Given the description of an element on the screen output the (x, y) to click on. 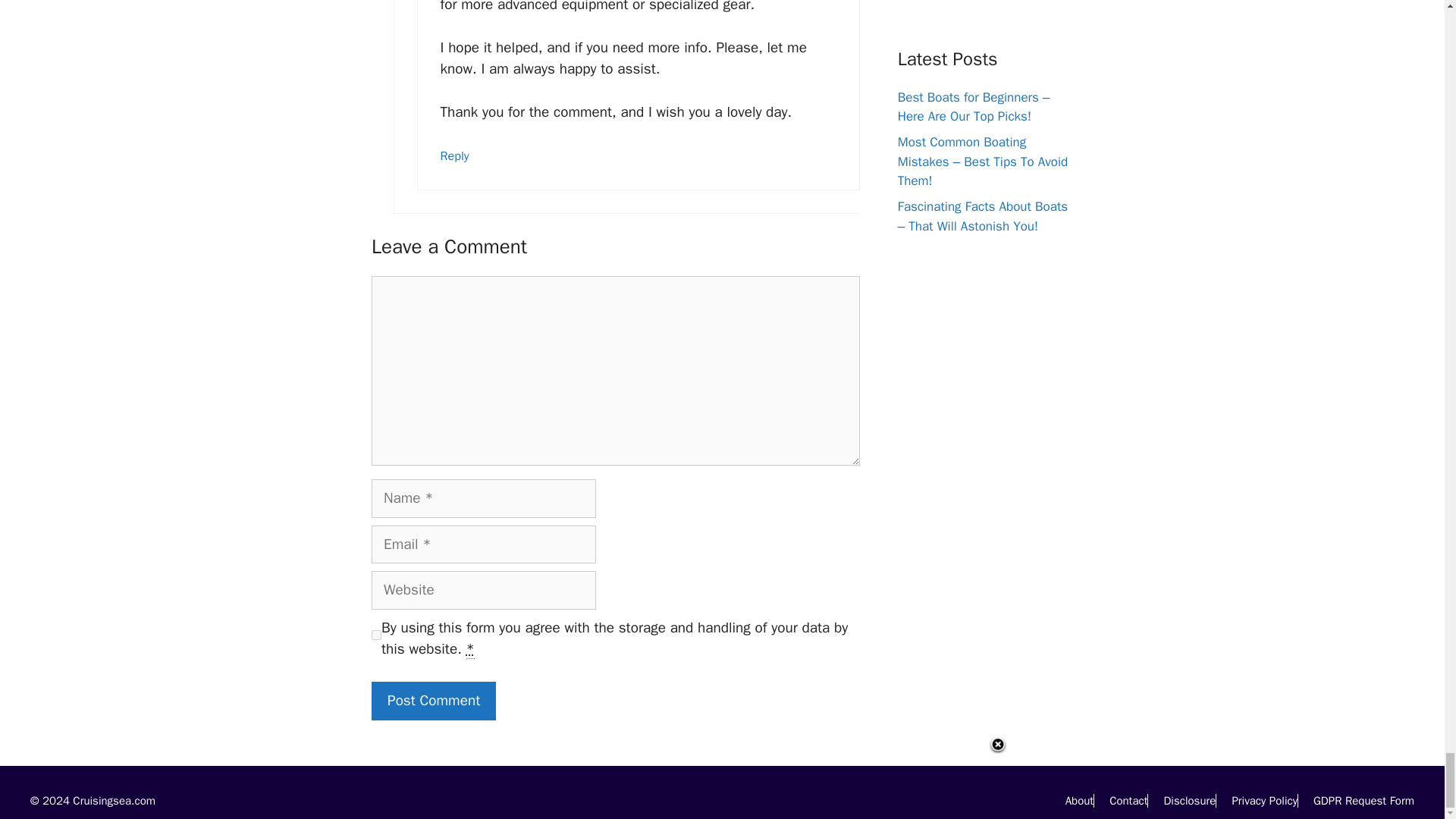
Post Comment (433, 700)
